Given the description of an element on the screen output the (x, y) to click on. 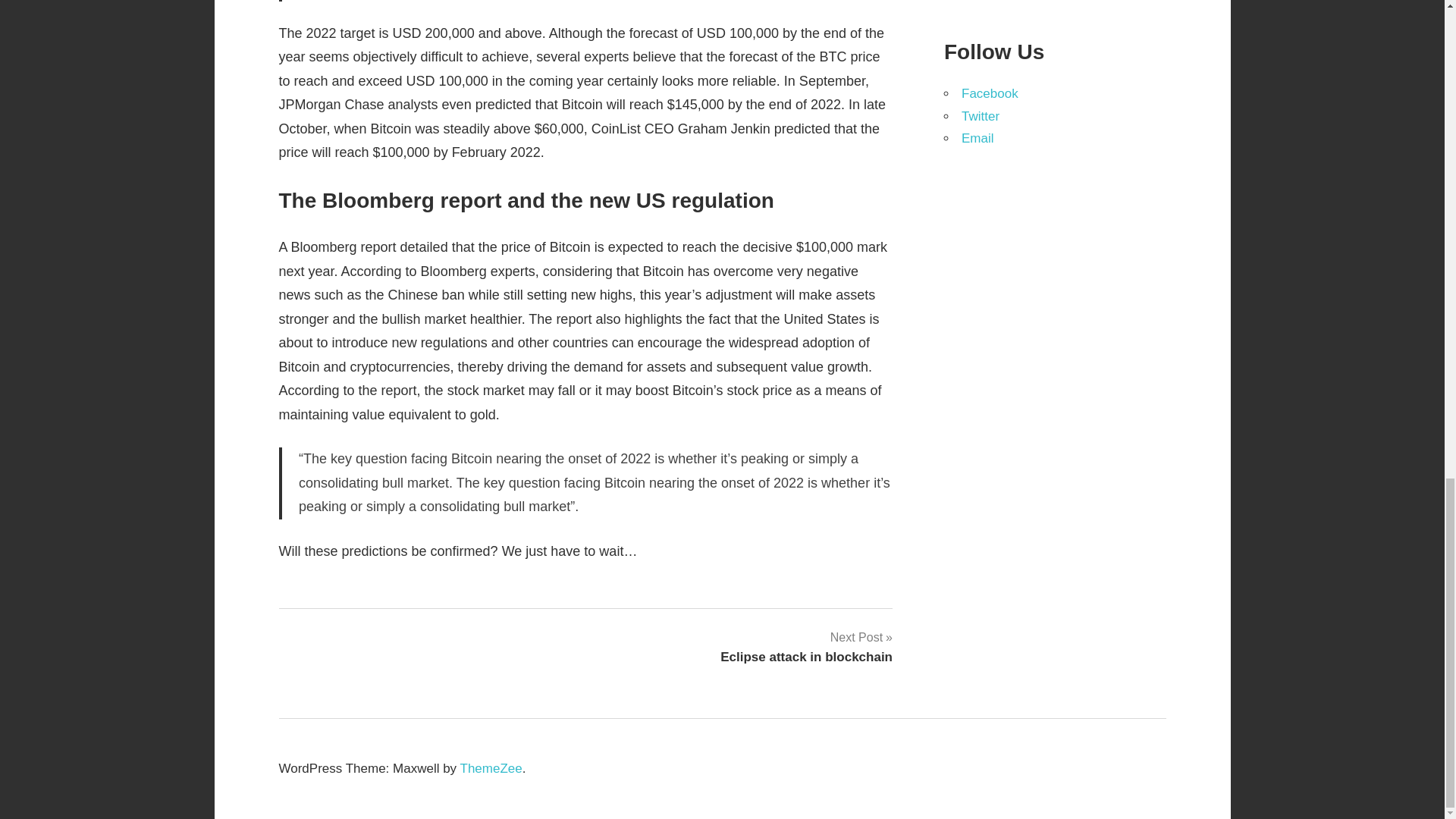
Email (977, 138)
ThemeZee (491, 768)
Twitter (806, 646)
Facebook (979, 115)
